Given the description of an element on the screen output the (x, y) to click on. 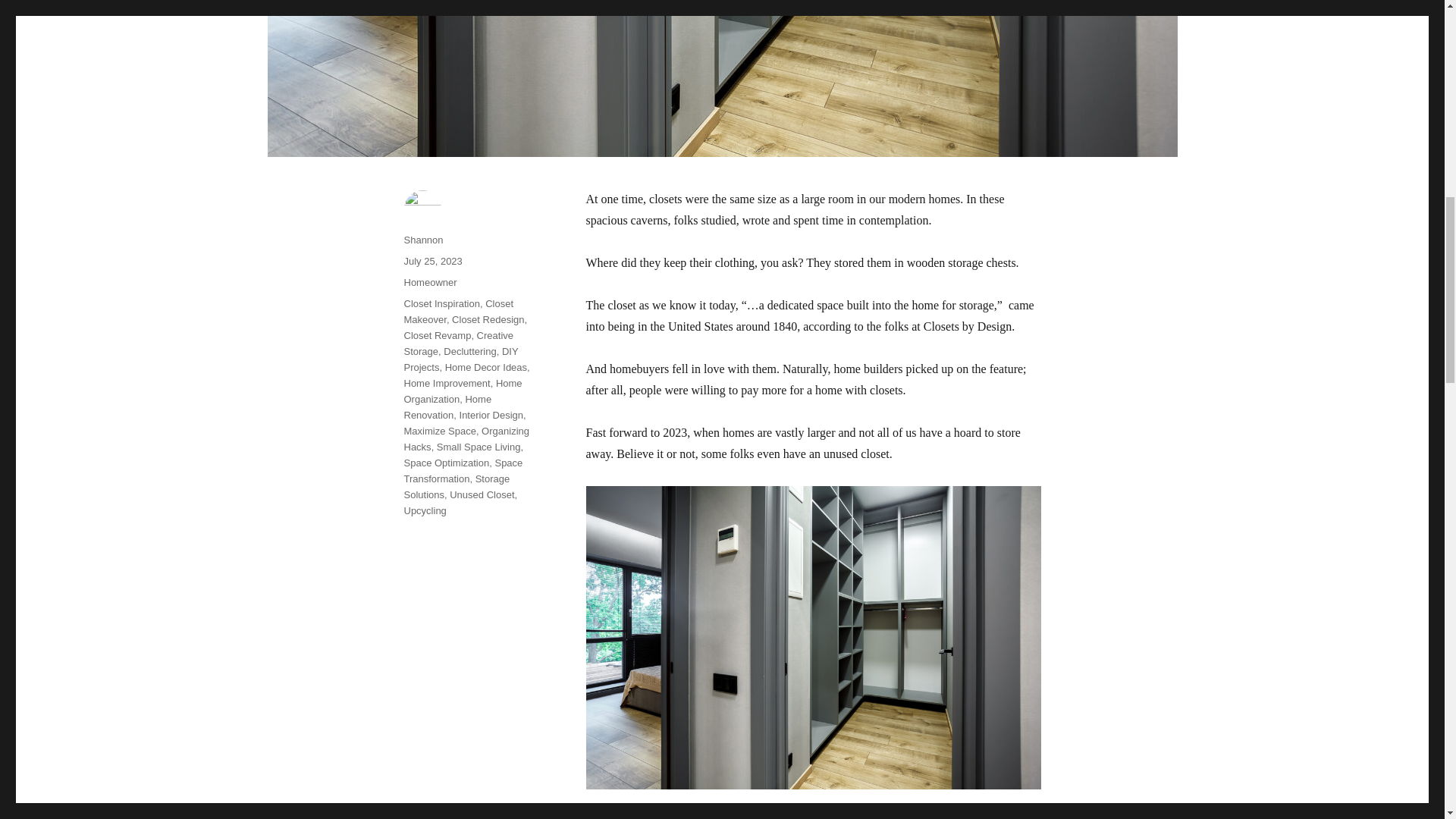
Organizing Hacks (465, 438)
Small Space Living (478, 446)
Space Optimization (446, 462)
Home Organization (462, 390)
Decluttering (470, 351)
DIY Projects (460, 359)
Homeowner (430, 282)
Closet Inspiration (441, 303)
Storage Solutions (456, 486)
Closet Revamp (436, 335)
Space Transformation (462, 470)
Home Improvement (446, 383)
Creative Storage (458, 343)
Interior Design (492, 414)
Home Renovation (447, 406)
